Given the description of an element on the screen output the (x, y) to click on. 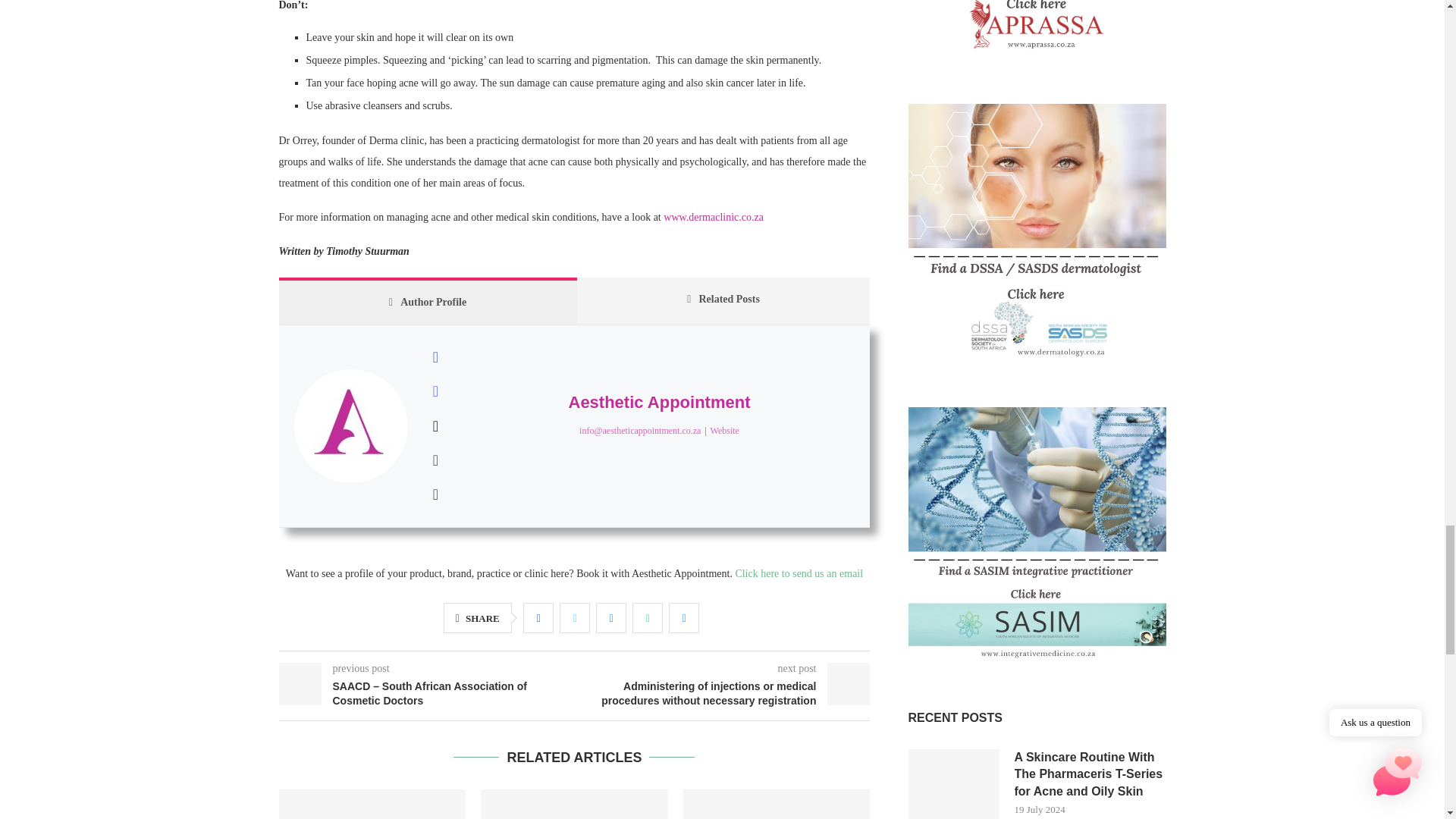
Review: Sothys Pigmentation Management Line (776, 804)
Five Tips For Winter Skincare (574, 804)
